Given the description of an element on the screen output the (x, y) to click on. 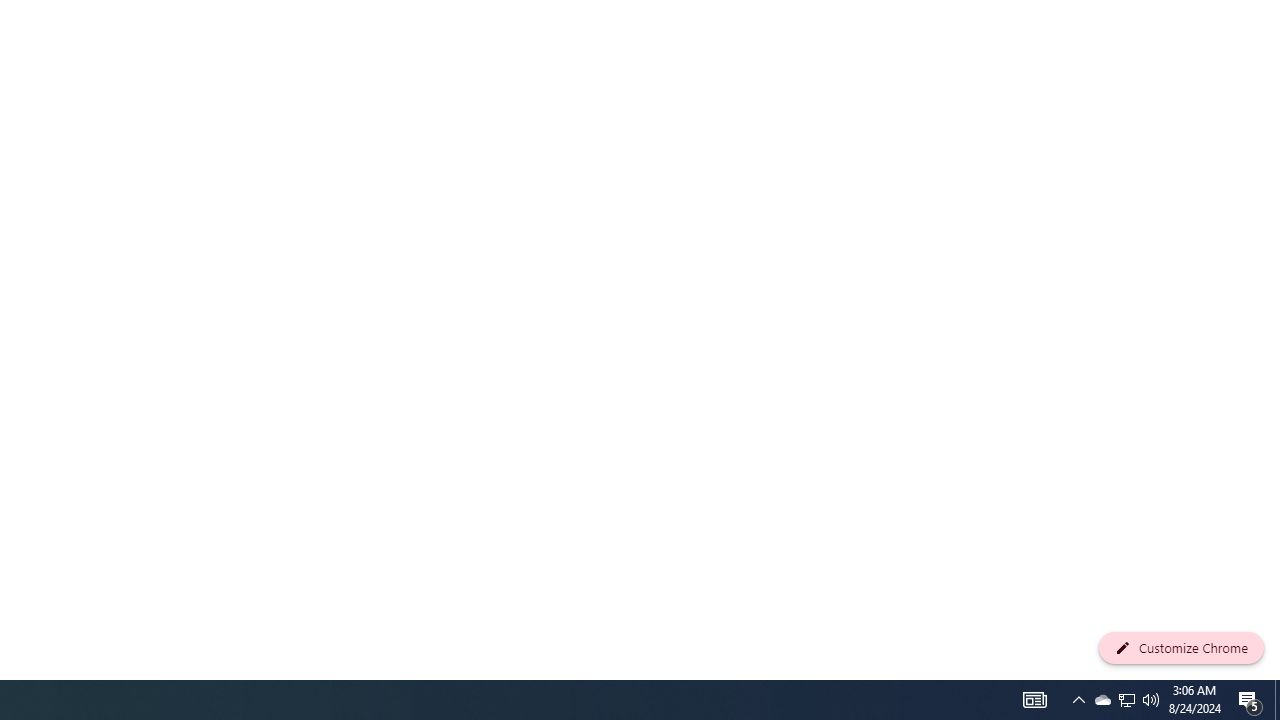
Customize Chrome (1181, 647)
